Given the description of an element on the screen output the (x, y) to click on. 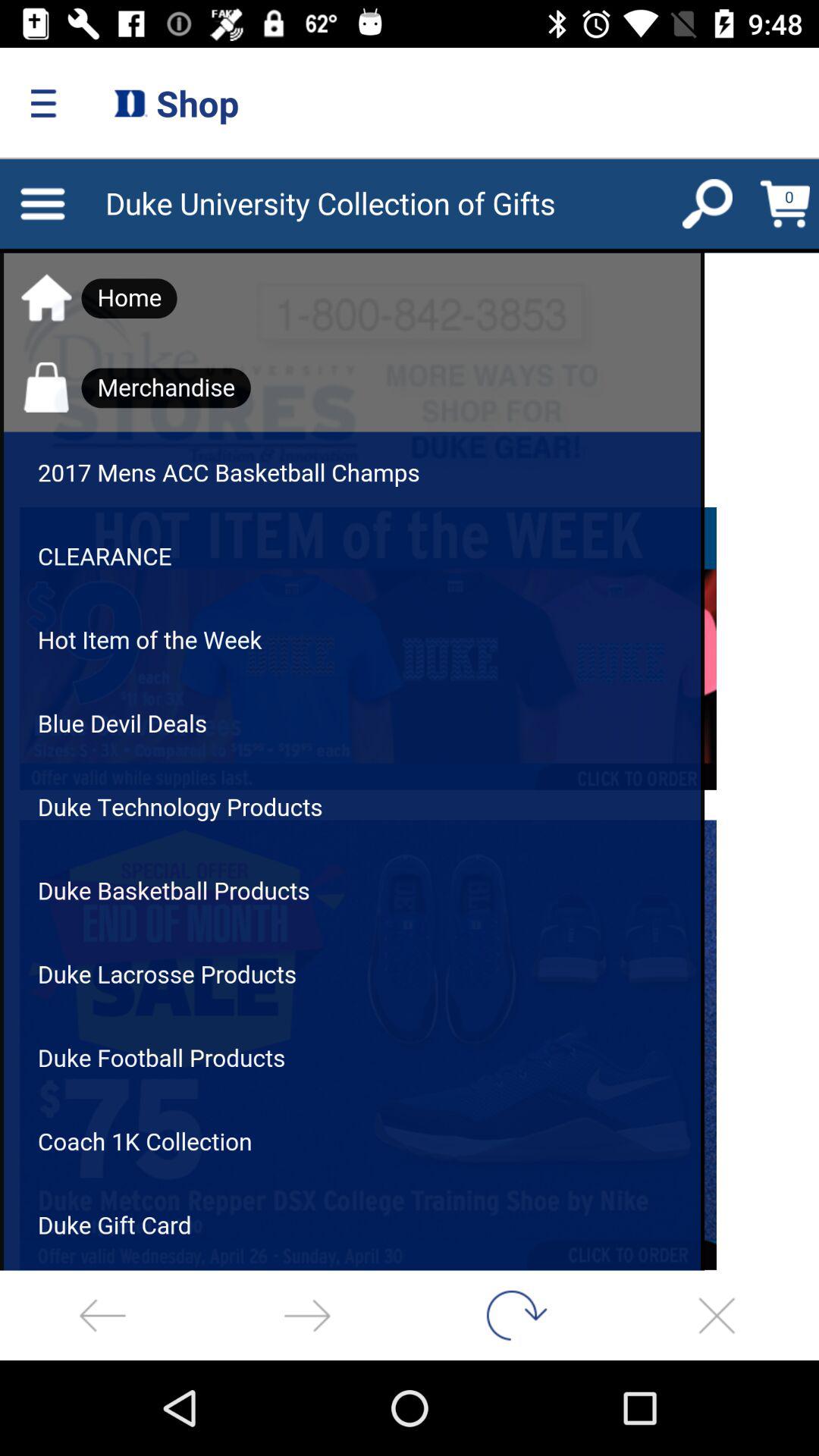
refresh key (511, 1315)
